Given the description of an element on the screen output the (x, y) to click on. 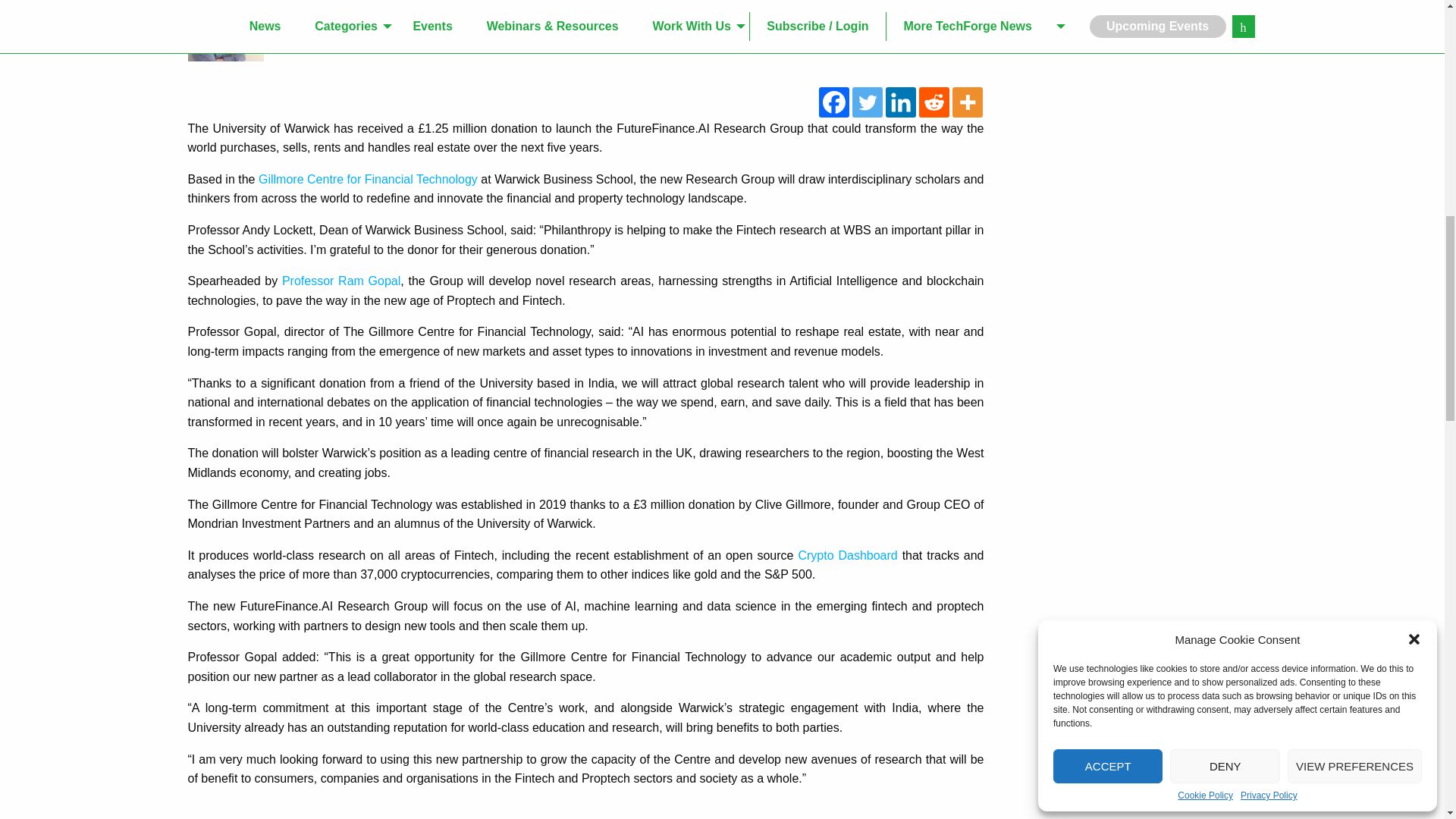
Reddit (933, 101)
Linkedin (900, 101)
Twitter (866, 101)
More (967, 101)
Facebook (833, 101)
